Given the description of an element on the screen output the (x, y) to click on. 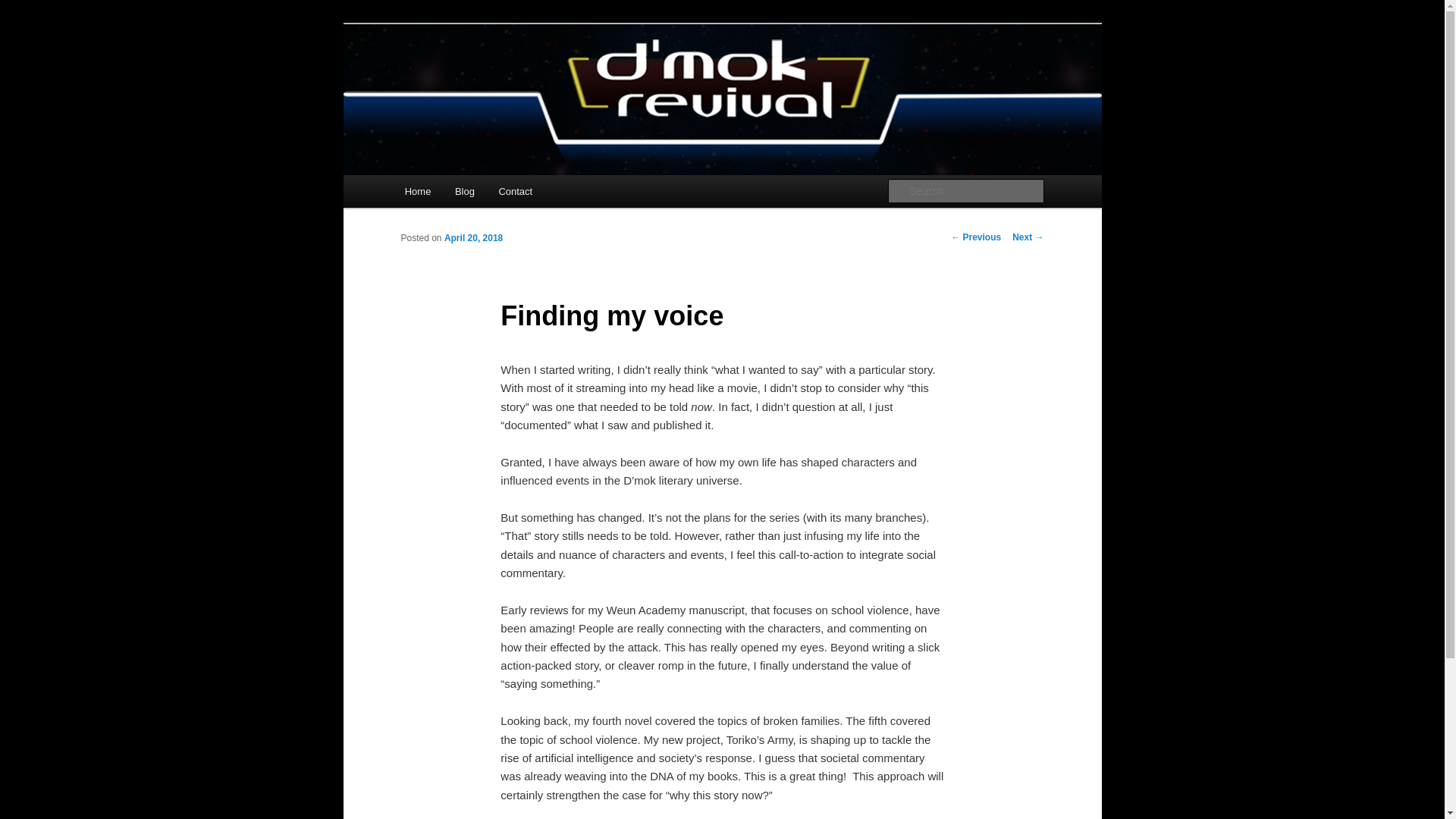
April 20, 2018 (473, 237)
Skip to secondary content (479, 193)
D'mok Revival Blog (505, 78)
Blog (464, 191)
Search (24, 8)
Skip to primary content (472, 193)
Contact (515, 191)
D'mok Revival Blog (505, 78)
2:43 am (473, 237)
Home (417, 191)
Skip to primary content (472, 193)
Skip to secondary content (479, 193)
